Given the description of an element on the screen output the (x, y) to click on. 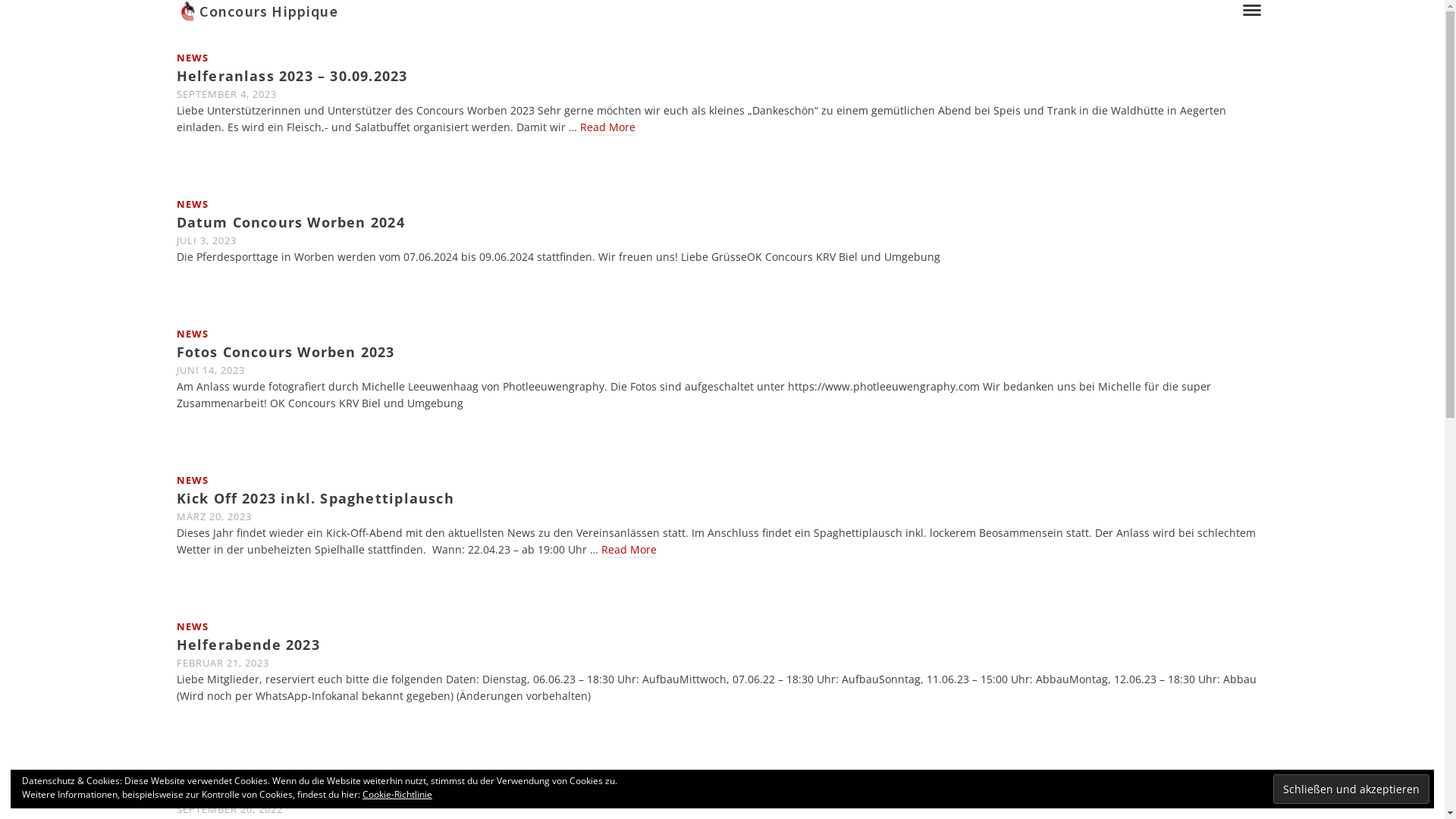
Concours Hippique Element type: text (704, 11)
Read More Element type: text (627, 550)
NEWS Element type: text (191, 626)
Datum Concours Worben 2023 Element type: text (721, 790)
NEWS Element type: text (191, 333)
NEWS Element type: text (191, 203)
Kick Off 2023 inkl. Spaghettiplausch Element type: text (721, 498)
NEWS Element type: text (191, 479)
Read More Element type: text (606, 127)
NEWS Element type: text (191, 772)
Fotos Concours Worben 2023 Element type: text (721, 351)
Datum Concours Worben 2024 Element type: text (721, 222)
Helferabende 2023 Element type: text (721, 644)
Cookie-Richtlinie Element type: text (397, 793)
NEWS Element type: text (191, 57)
